Given the description of an element on the screen output the (x, y) to click on. 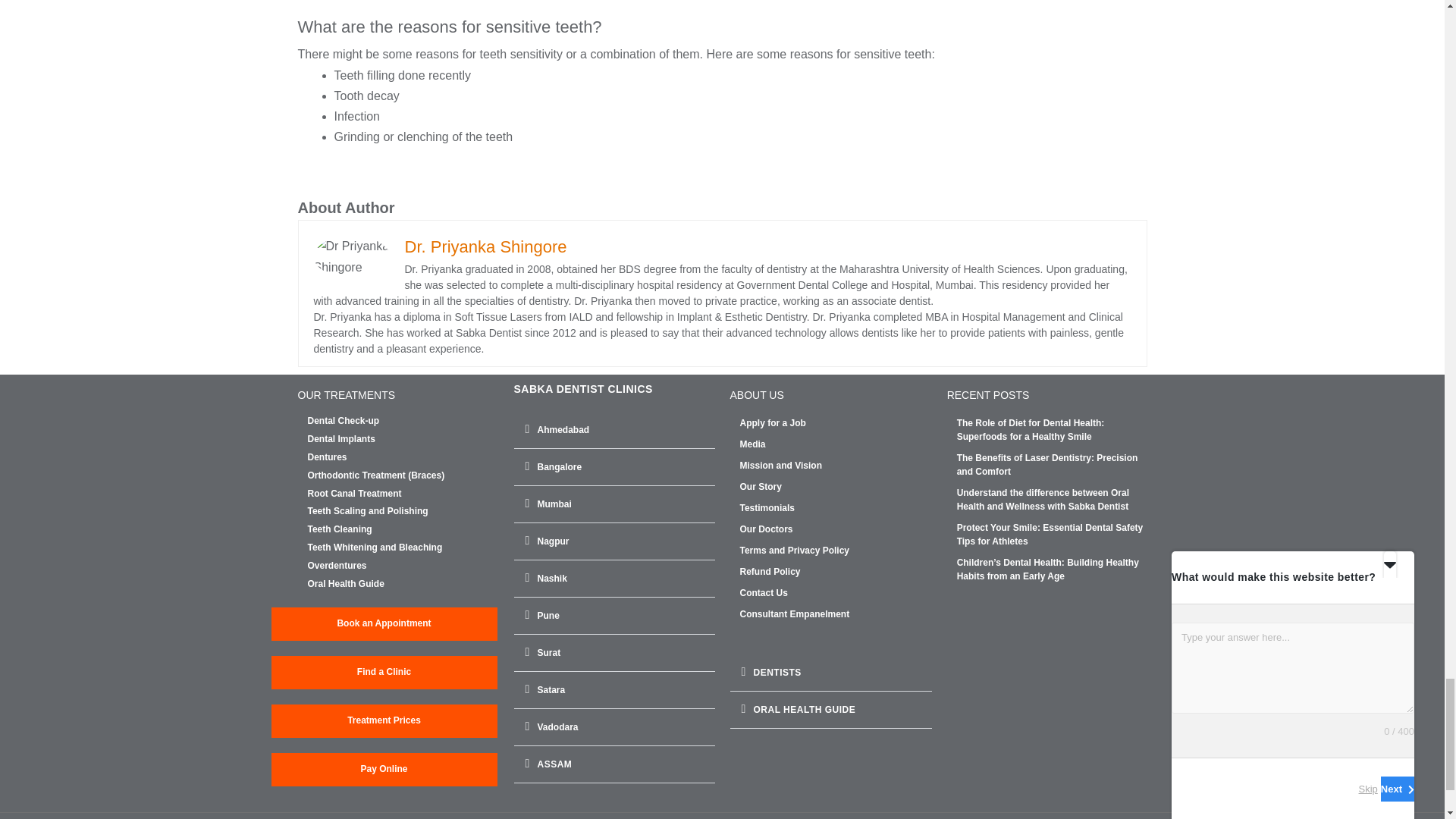
Teeth Whitening and Bleaching (403, 547)
Root Canal Treatment (403, 493)
Overdentures (403, 566)
Teeth Cleaning (403, 529)
Dental Check-up (403, 421)
Dental Implants (403, 439)
Our Story (835, 486)
Teeth Scaling and Polishing (403, 511)
Careers (835, 422)
Mission and Vision (835, 465)
Orthodontic Treatment (403, 475)
Media (835, 444)
Oral Health Guide (403, 584)
Dentures (403, 457)
Testimonials (835, 508)
